Given the description of an element on the screen output the (x, y) to click on. 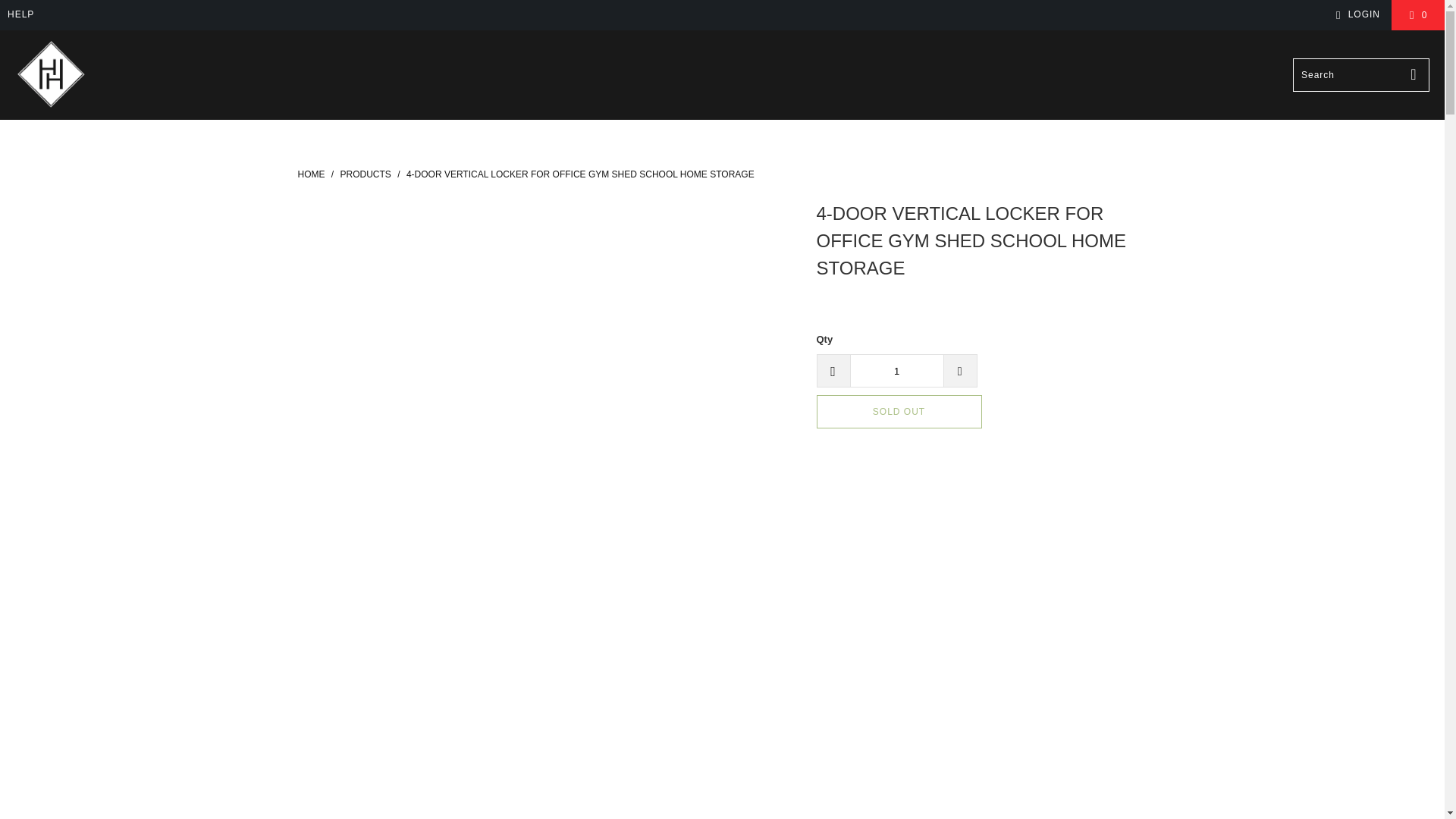
PRODUCTS (365, 173)
The Hippie House (50, 74)
HELP (20, 14)
HOME (310, 173)
Products (365, 173)
LOGIN (1355, 14)
My Account  (1355, 14)
The Hippie House (310, 173)
1 (895, 370)
